Given the description of an element on the screen output the (x, y) to click on. 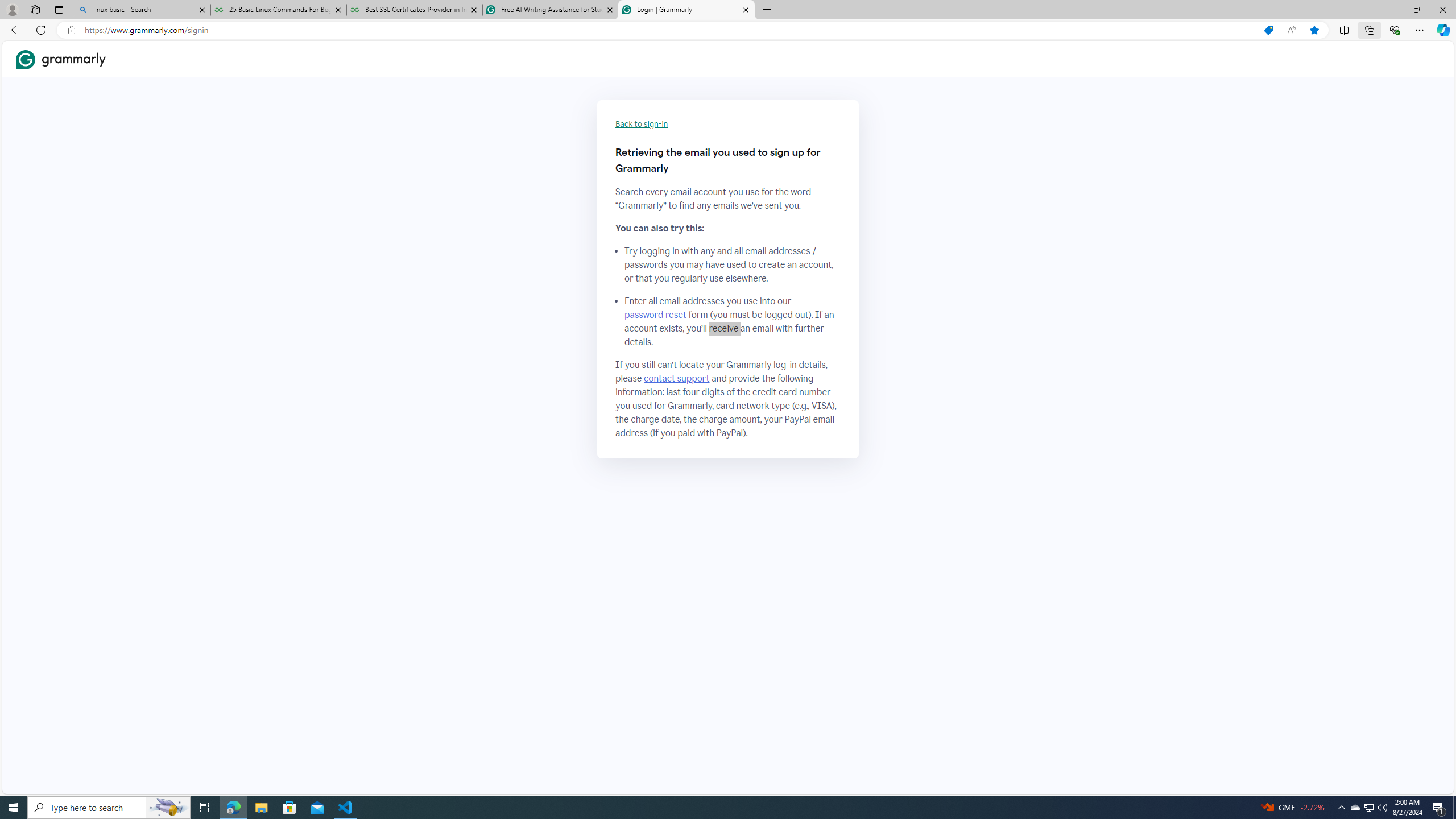
linux basic - Search (142, 9)
Grammarly Home (61, 58)
contact support (676, 378)
Grammarly Home (61, 59)
25 Basic Linux Commands For Beginners - GeeksforGeeks (277, 9)
Shopping in Microsoft Edge (1268, 29)
